Given the description of an element on the screen output the (x, y) to click on. 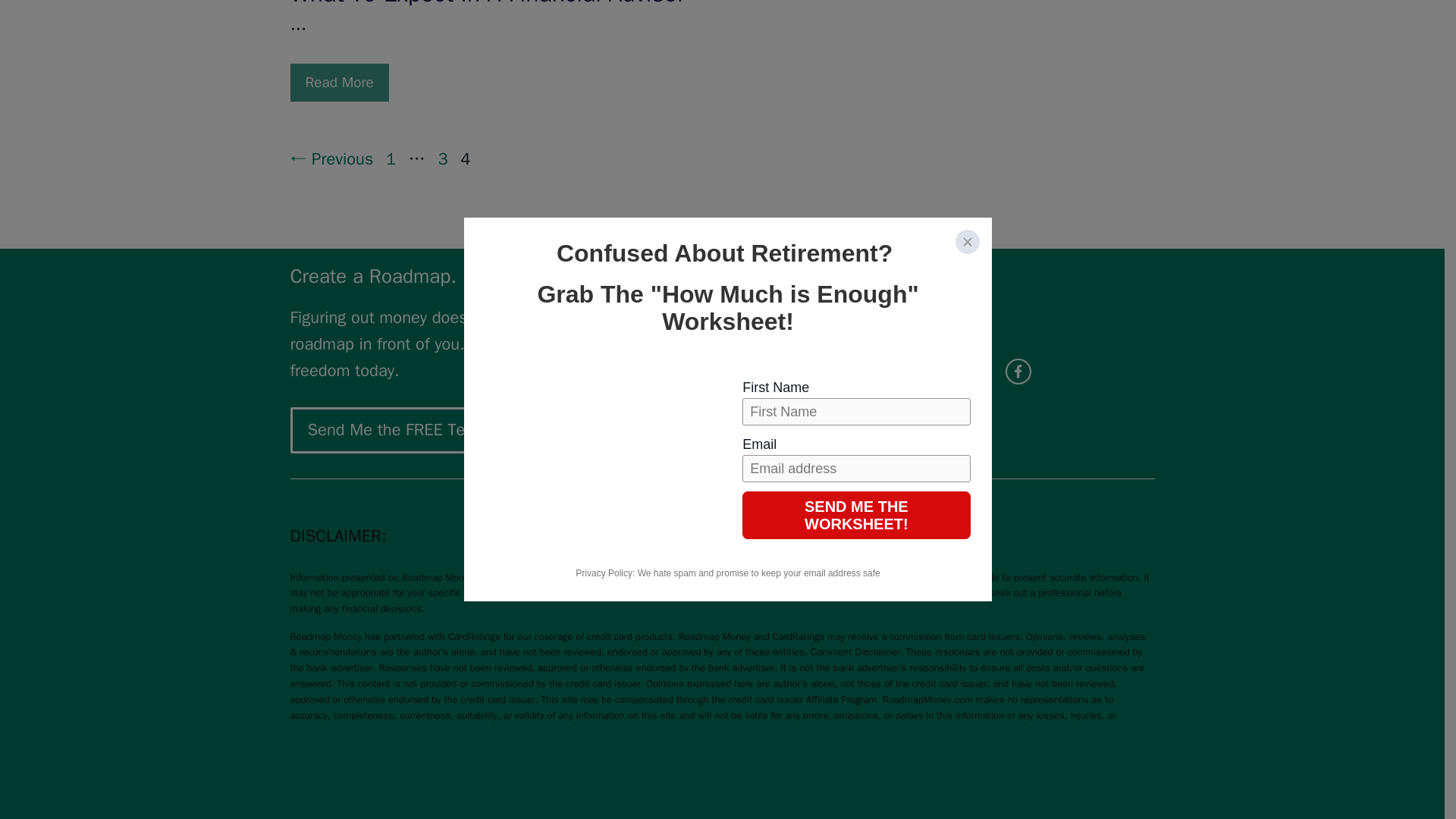
Read More (338, 82)
What To Expect In A Financial Advisor (486, 4)
Send Me the FREE Template! (413, 430)
What To Expect In A Financial Advisor (338, 82)
